Given the description of an element on the screen output the (x, y) to click on. 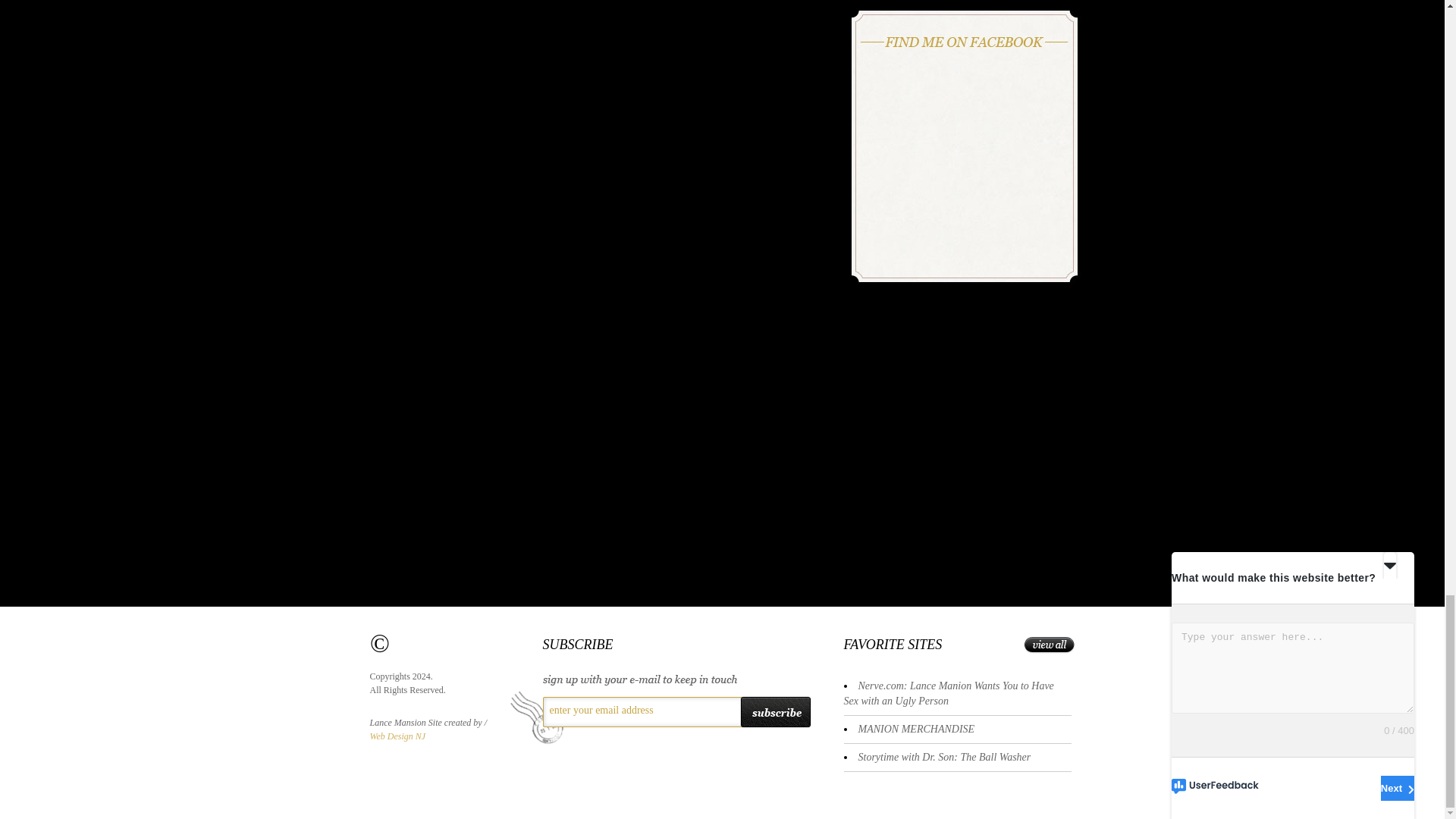
A great reading of The Ball Washer (944, 756)
very funny article (947, 693)
enter your email address (639, 710)
